Given the description of an element on the screen output the (x, y) to click on. 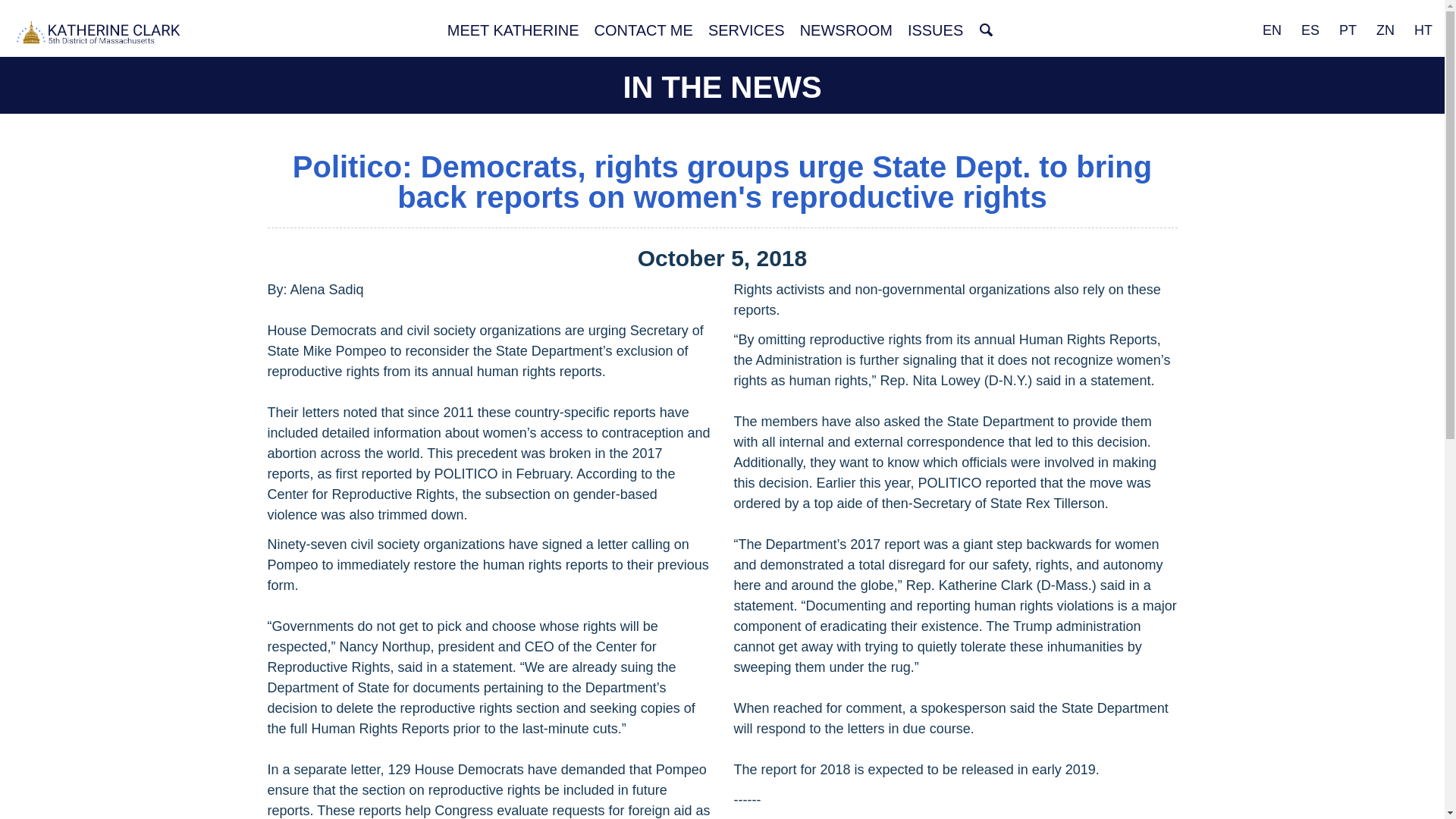
NEWSROOM (845, 30)
EN (1271, 30)
MEET KATHERINE (512, 30)
CONTACT ME (643, 30)
CONGRESSWOMAN KATHERINE CLARK (98, 34)
ES (1310, 30)
ISSUES (935, 30)
SERVICES (746, 30)
